Given the description of an element on the screen output the (x, y) to click on. 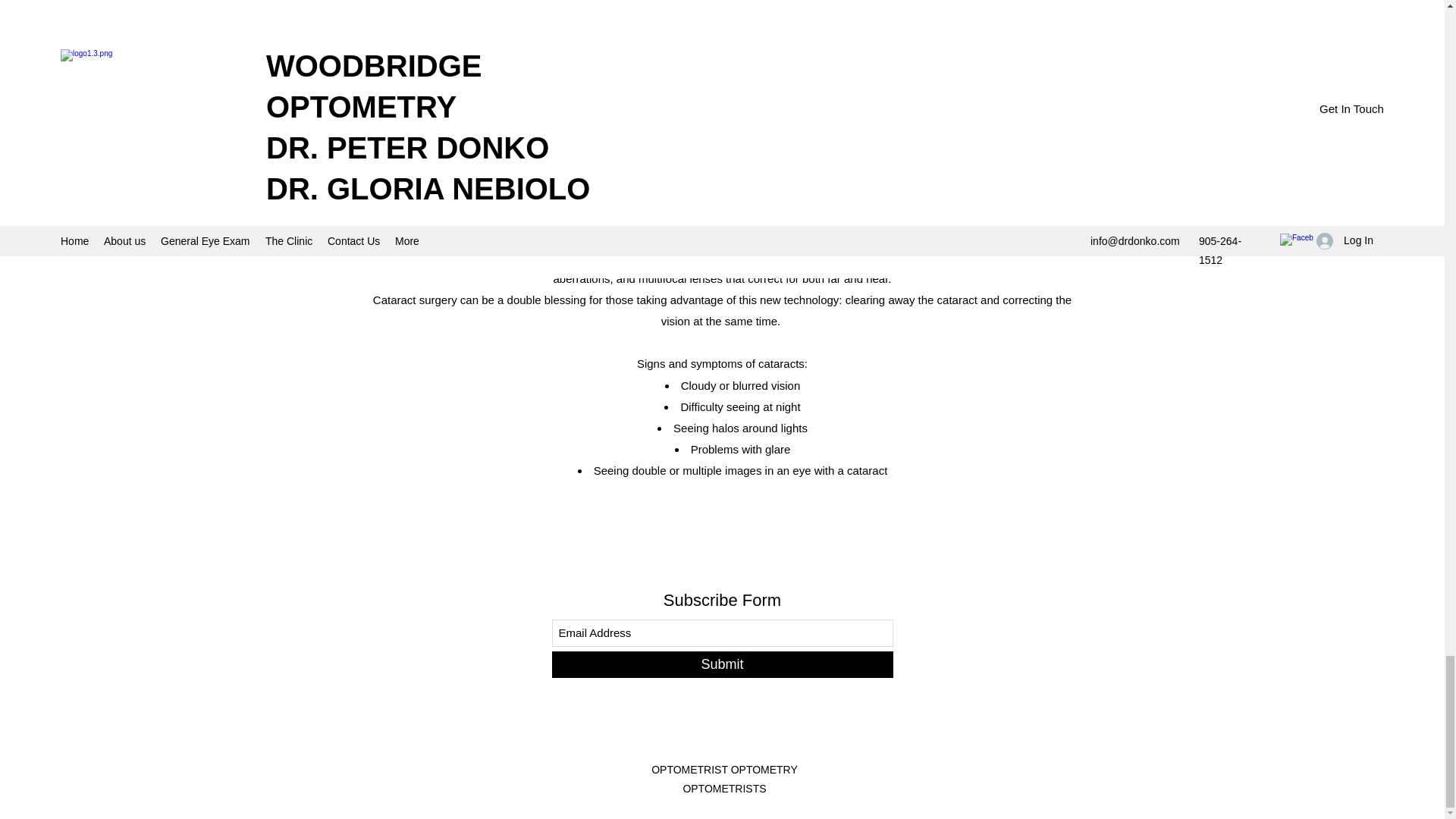
Conventional IOLs (740, 86)
Laser Cataract Surgery (740, 128)
Submit (722, 664)
